Given the description of an element on the screen output the (x, y) to click on. 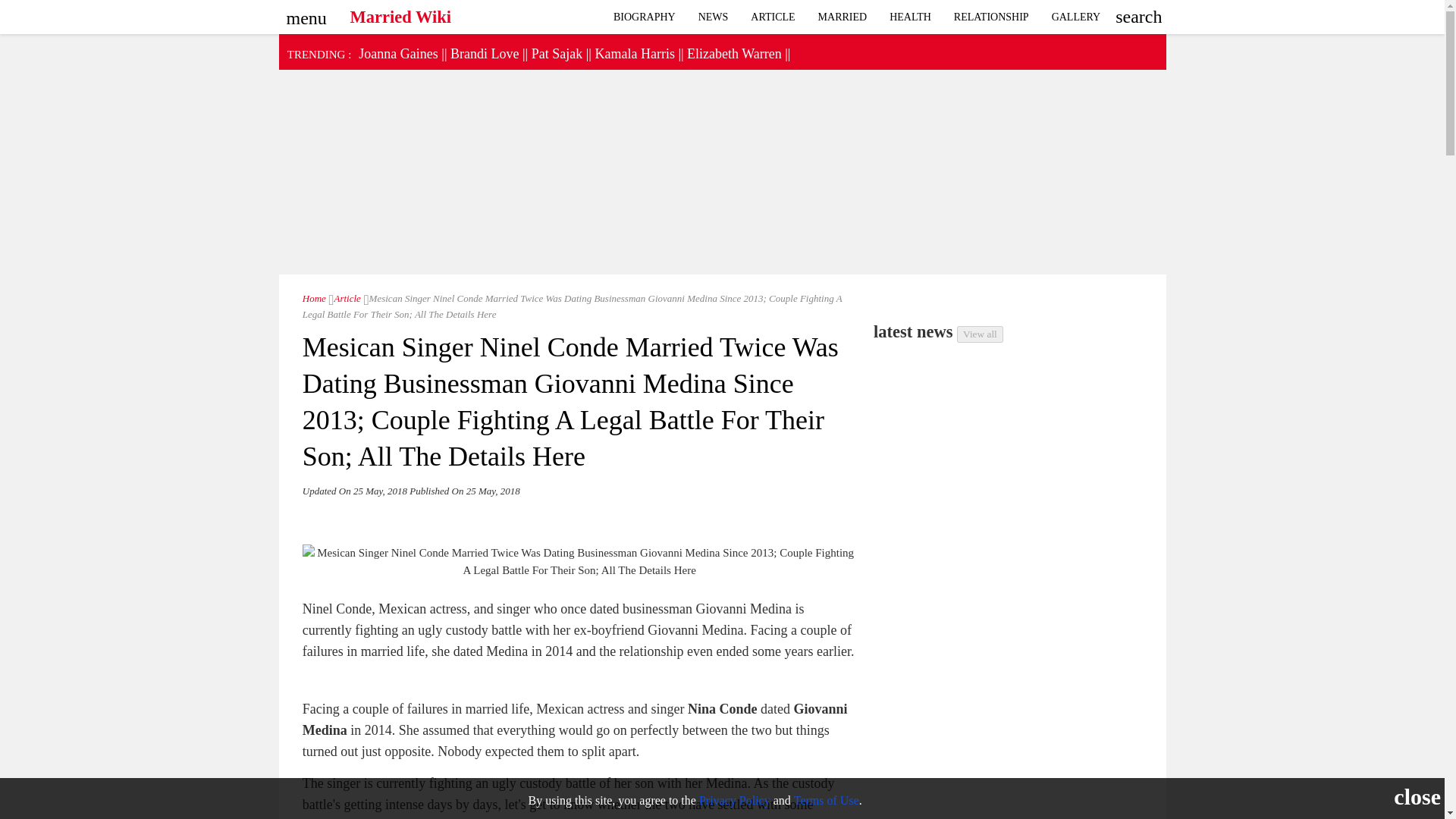
Pat Sajak (557, 53)
Privacy Policy (734, 799)
Joanna Gaines (398, 53)
Terms of Use (826, 799)
Article (772, 17)
Kamala Harris (634, 53)
Relationship (991, 17)
married (842, 17)
MARRIED (842, 17)
relationship (1076, 17)
BIOGRAPHY (644, 17)
Married Wiki (400, 13)
Kamala Harris (634, 53)
HEALTH (909, 17)
News (713, 17)
